Given the description of an element on the screen output the (x, y) to click on. 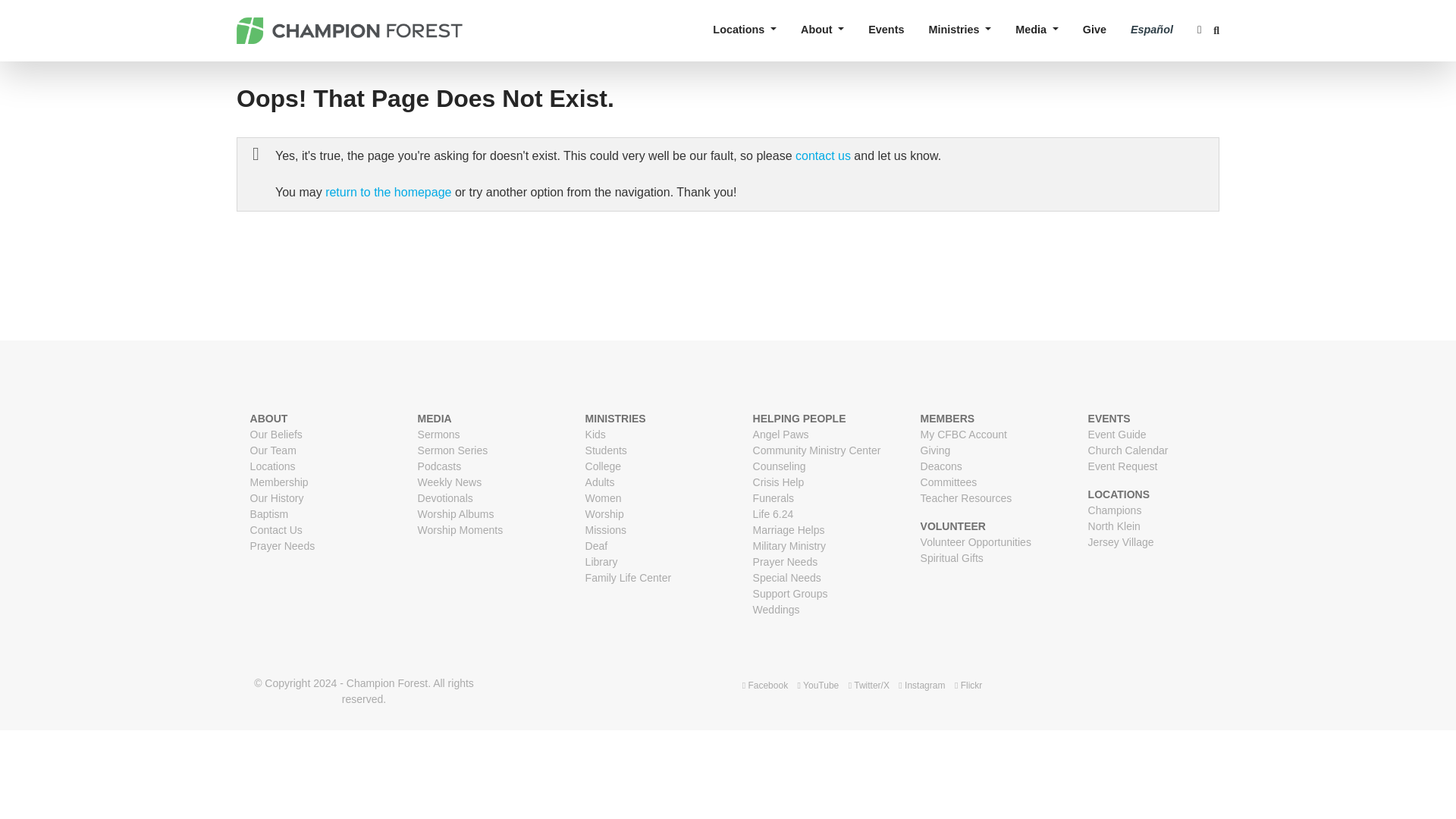
Give (1094, 29)
Give (1094, 29)
About (822, 29)
Media (1036, 29)
Locations (744, 29)
Search (1216, 30)
Events (885, 29)
My Account (1198, 29)
Events (885, 29)
Ministries (959, 29)
